Given the description of an element on the screen output the (x, y) to click on. 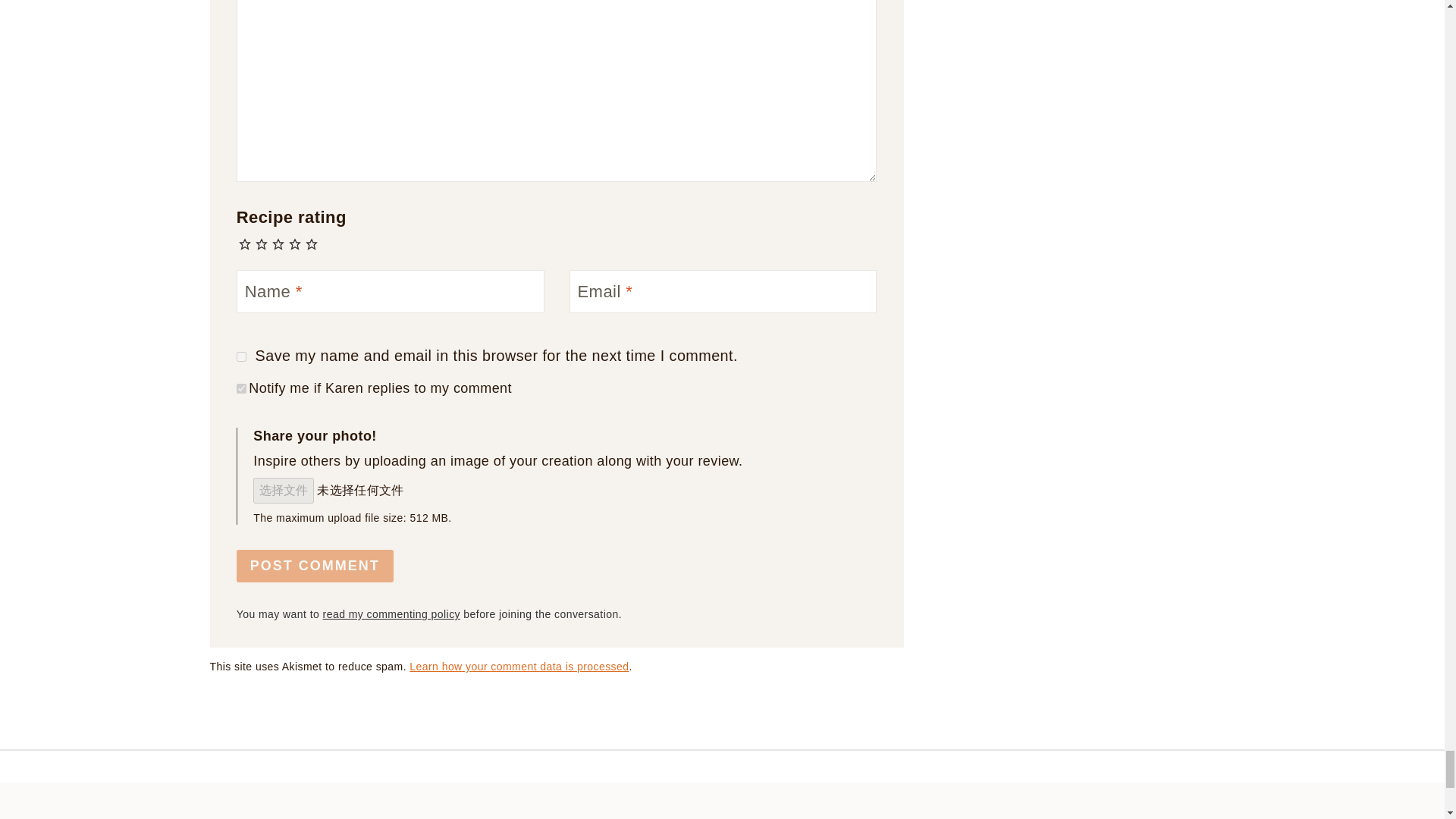
yes (240, 356)
on (240, 388)
Post Comment (314, 565)
